Given the description of an element on the screen output the (x, y) to click on. 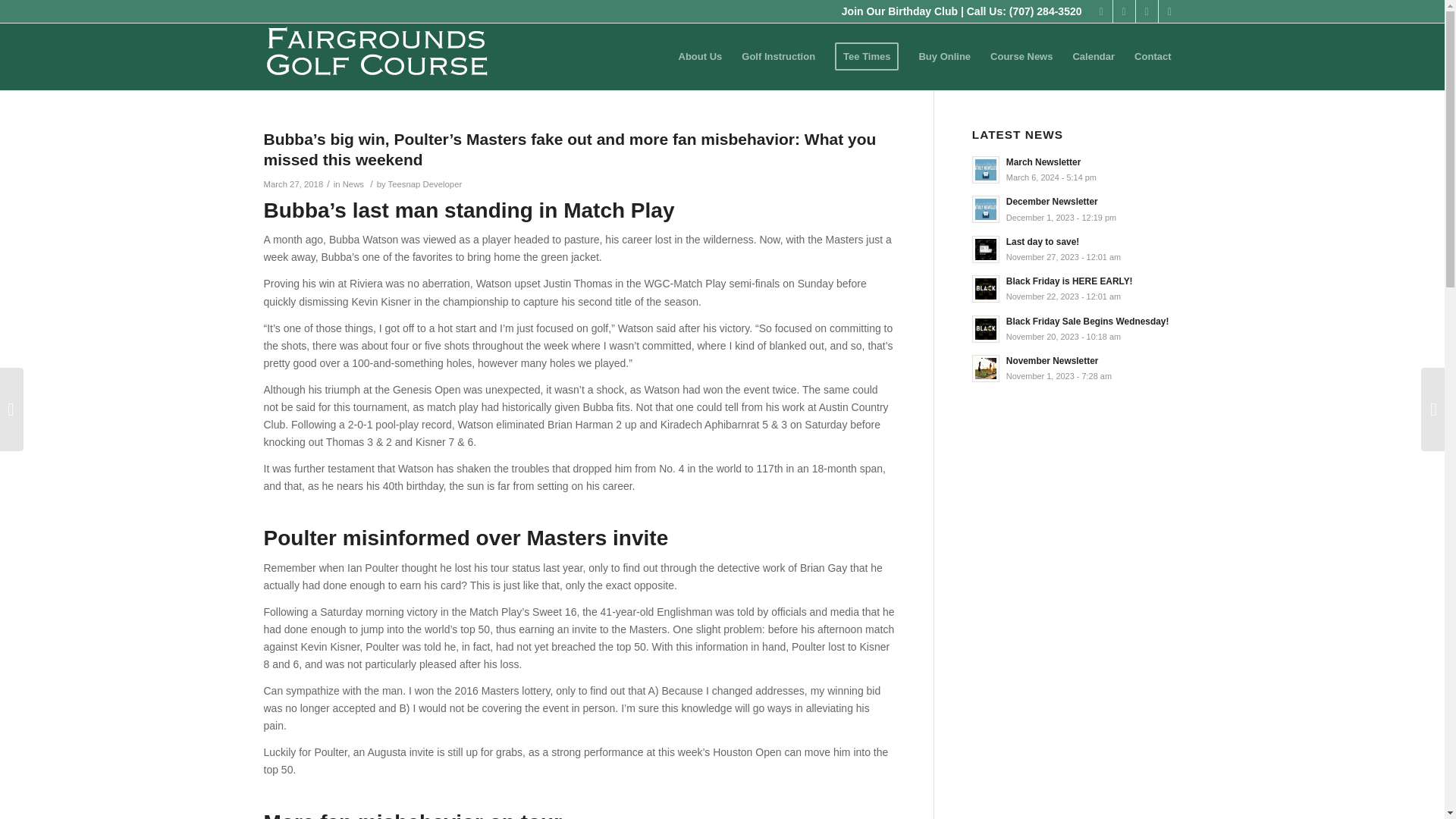
Mail (1169, 11)
Golf Instruction (778, 56)
Join Our Birthday Club (1076, 208)
Buy Online (899, 10)
Teesnap Developer (943, 56)
Twitter (425, 184)
Calendar (1124, 11)
Rss (1093, 56)
About Us (1146, 11)
Tee Times (700, 56)
News (1076, 169)
Facebook (866, 56)
Posts by Teesnap Developer (353, 184)
